Given the description of an element on the screen output the (x, y) to click on. 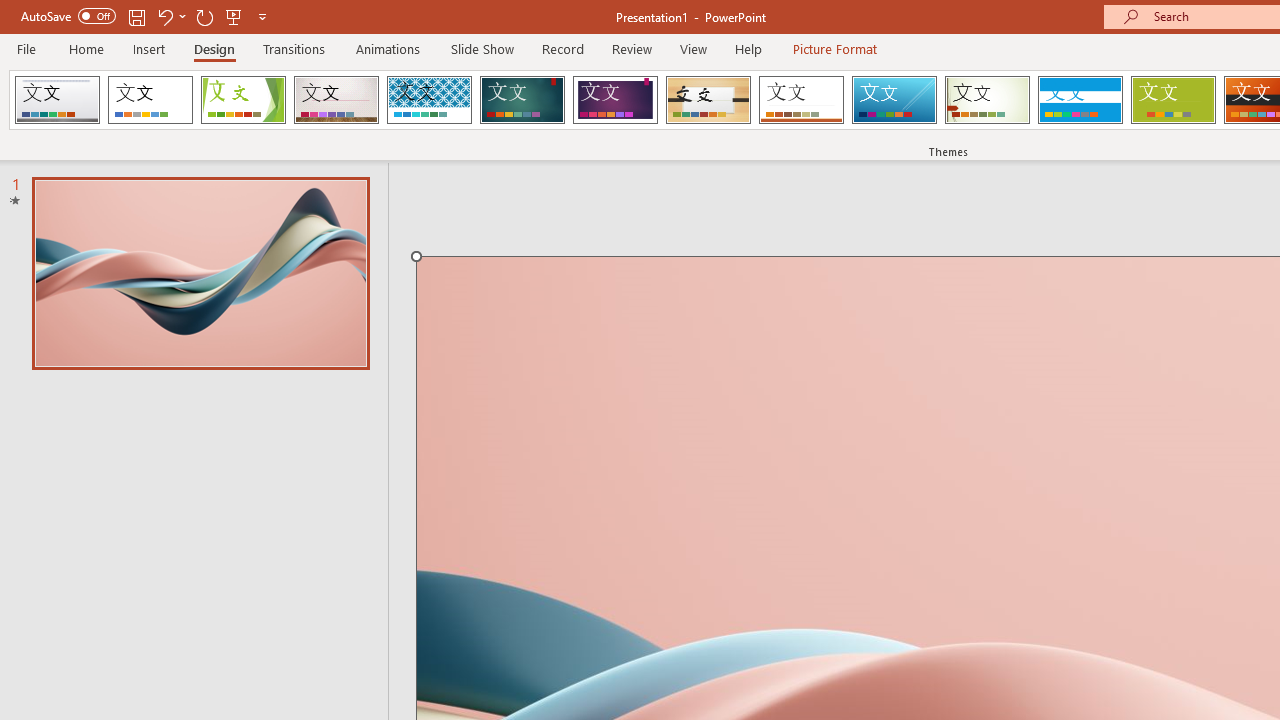
Wisp (987, 100)
Slice (893, 100)
AfterglowVTI (57, 100)
Ion (522, 100)
